Given the description of an element on the screen output the (x, y) to click on. 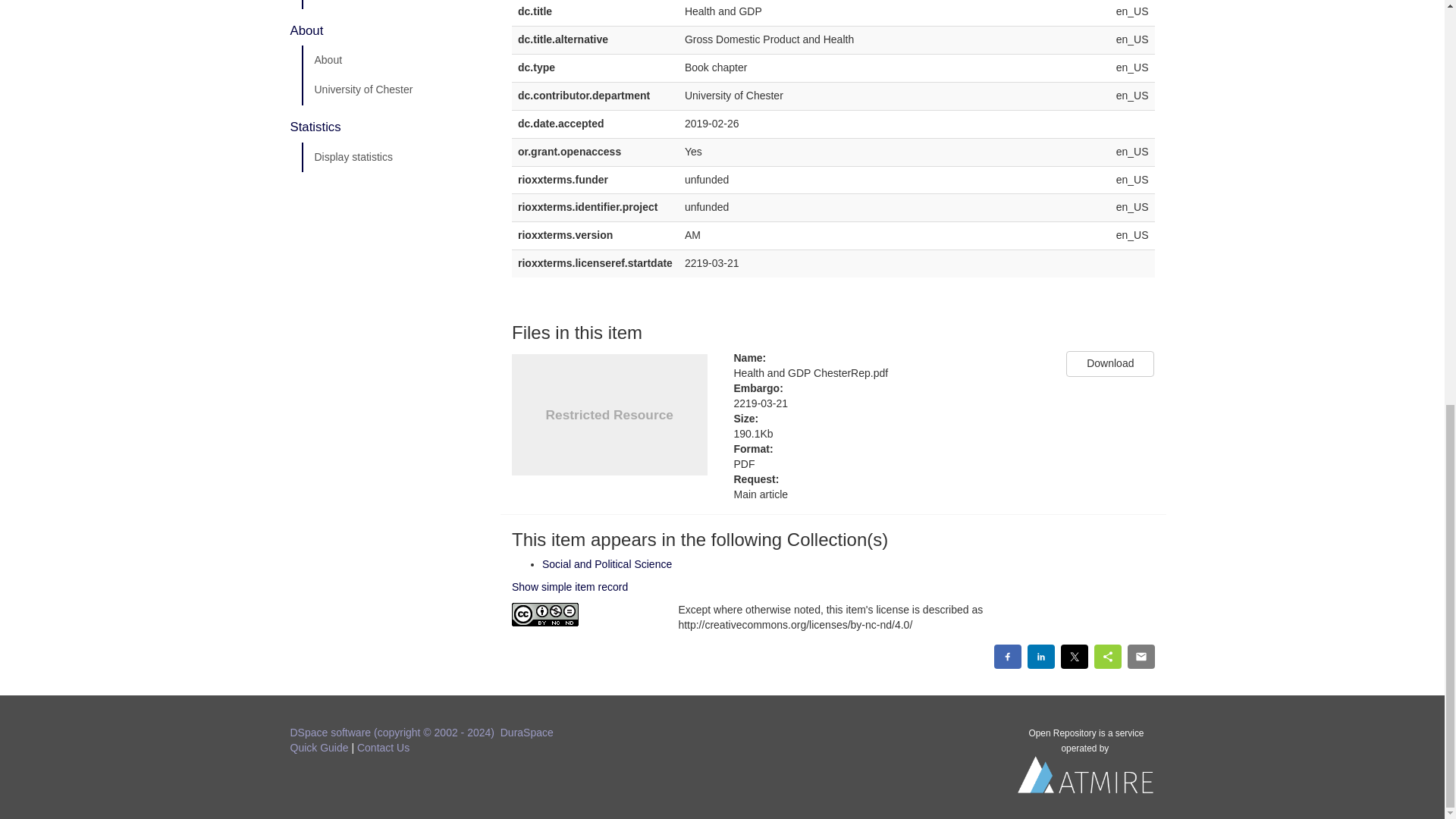
Health and GDP ChesterRep.pdf (888, 373)
Display statistics (395, 157)
Main article (888, 494)
University of Chester (395, 90)
Register (395, 4)
Atmire NV (1085, 778)
About (395, 60)
